Given the description of an element on the screen output the (x, y) to click on. 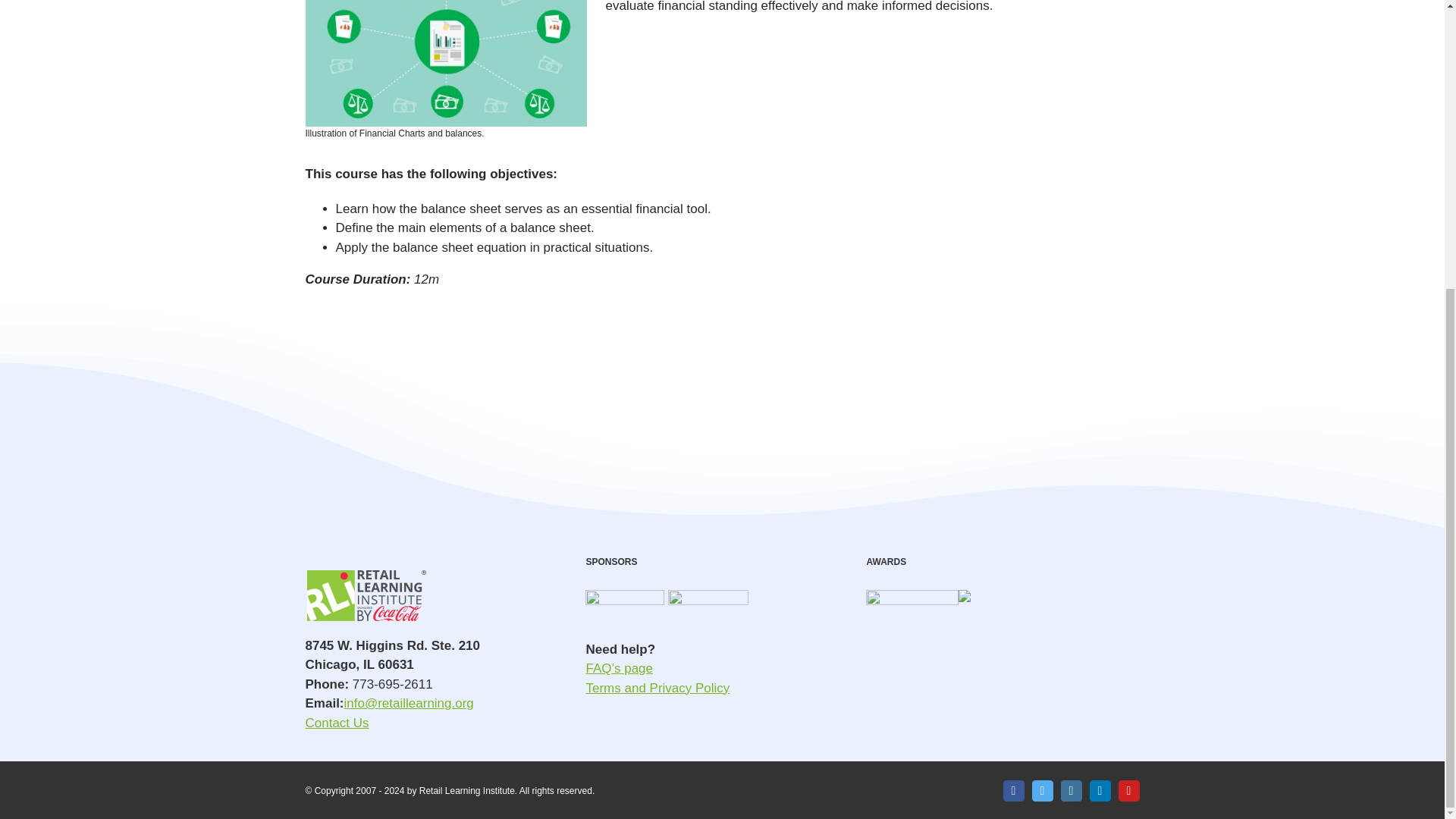
Instagram (1070, 790)
YouTube (1128, 790)
LinkedIn (1099, 790)
Facebook (1013, 790)
Twitter (1041, 790)
